Given the description of an element on the screen output the (x, y) to click on. 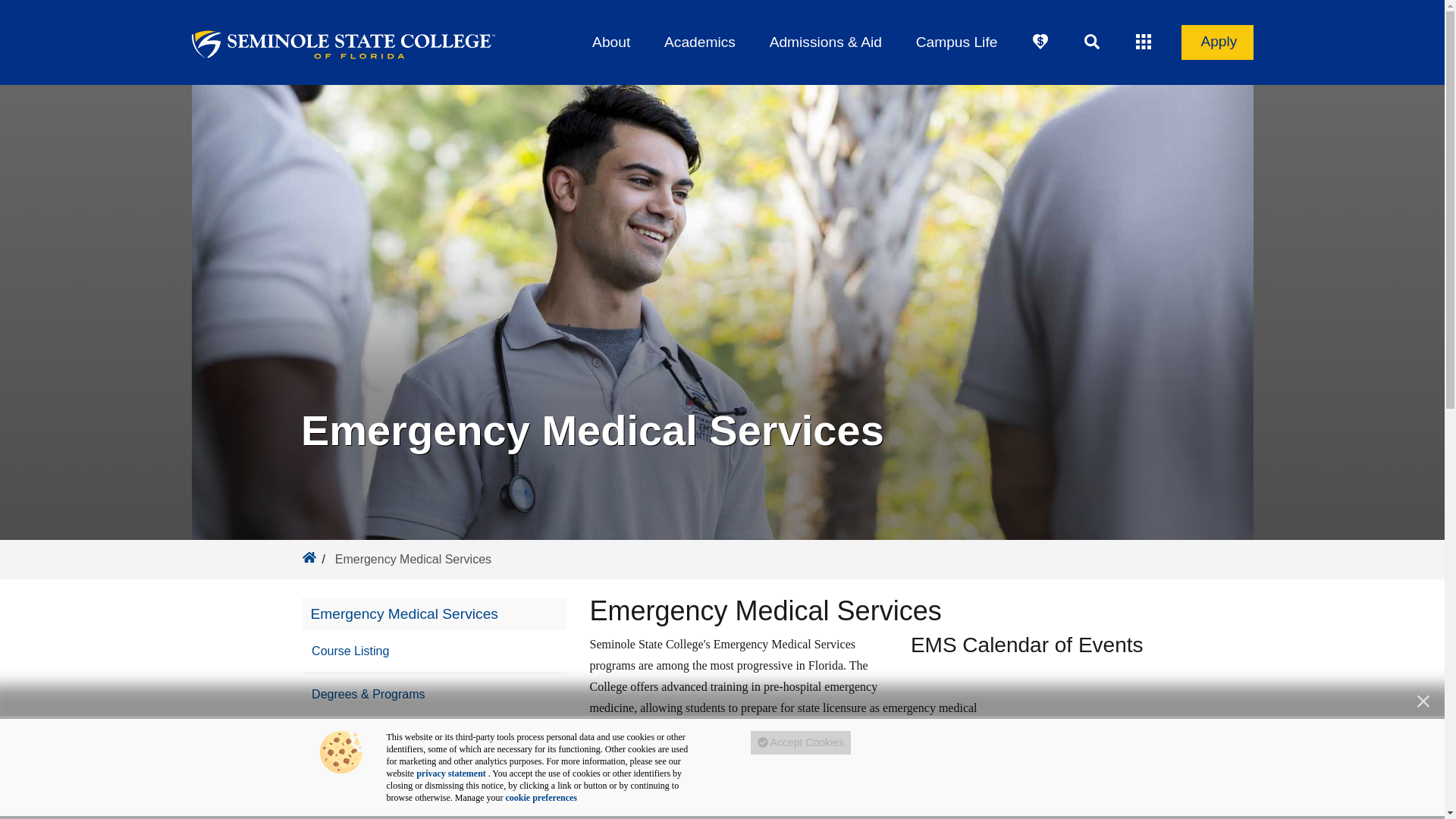
My Apps (1143, 41)
Seminole State College Homepage (308, 557)
Search (1091, 41)
Give (1039, 41)
Give (1039, 41)
My Apps (1143, 41)
My Apps (1143, 41)
Seminole State College Homepage (308, 557)
Apply (1216, 42)
Campus Life (956, 42)
Search (1091, 41)
Academics (699, 42)
About (611, 42)
